Given the description of an element on the screen output the (x, y) to click on. 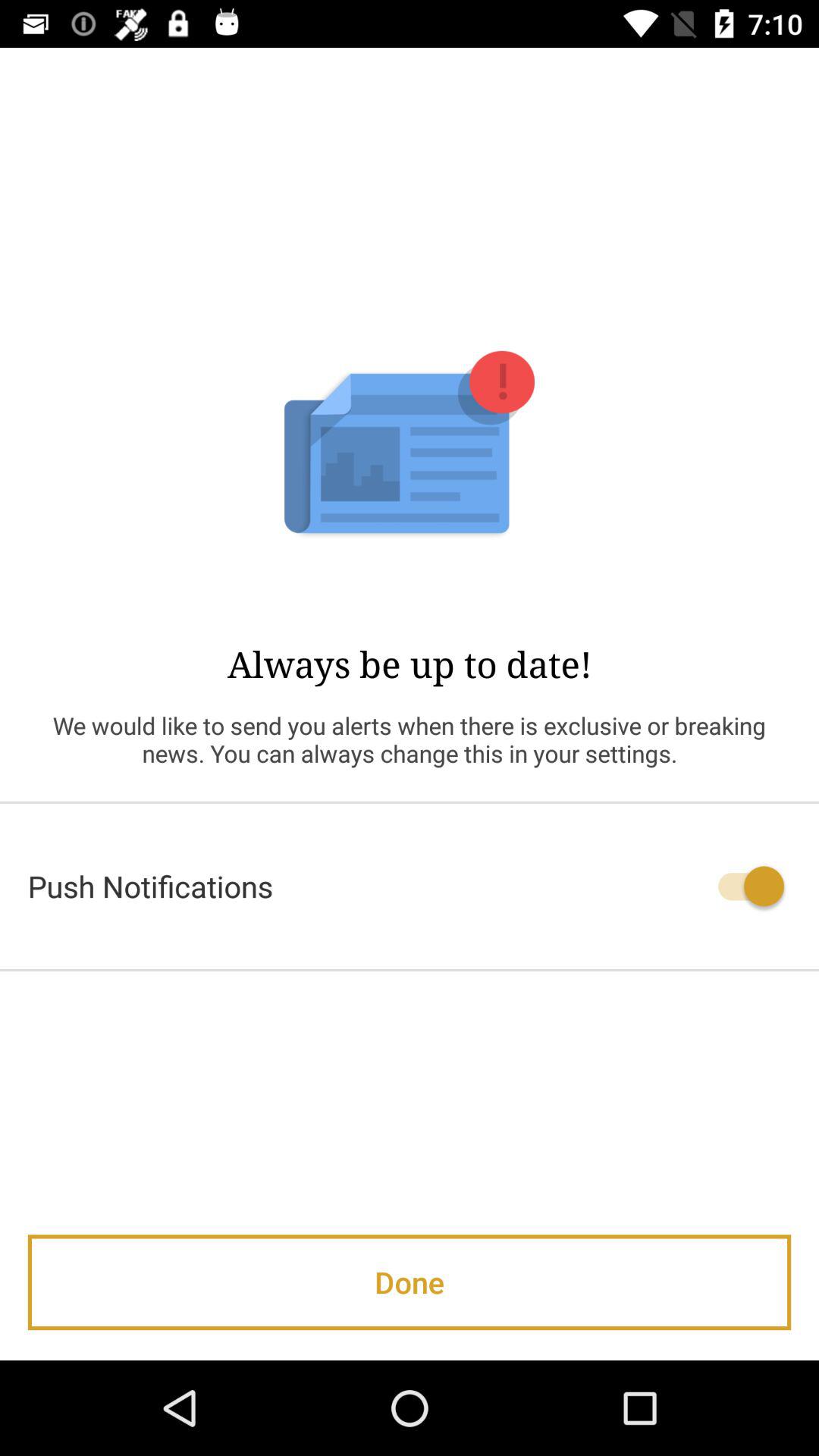
open done icon (409, 1282)
